Given the description of an element on the screen output the (x, y) to click on. 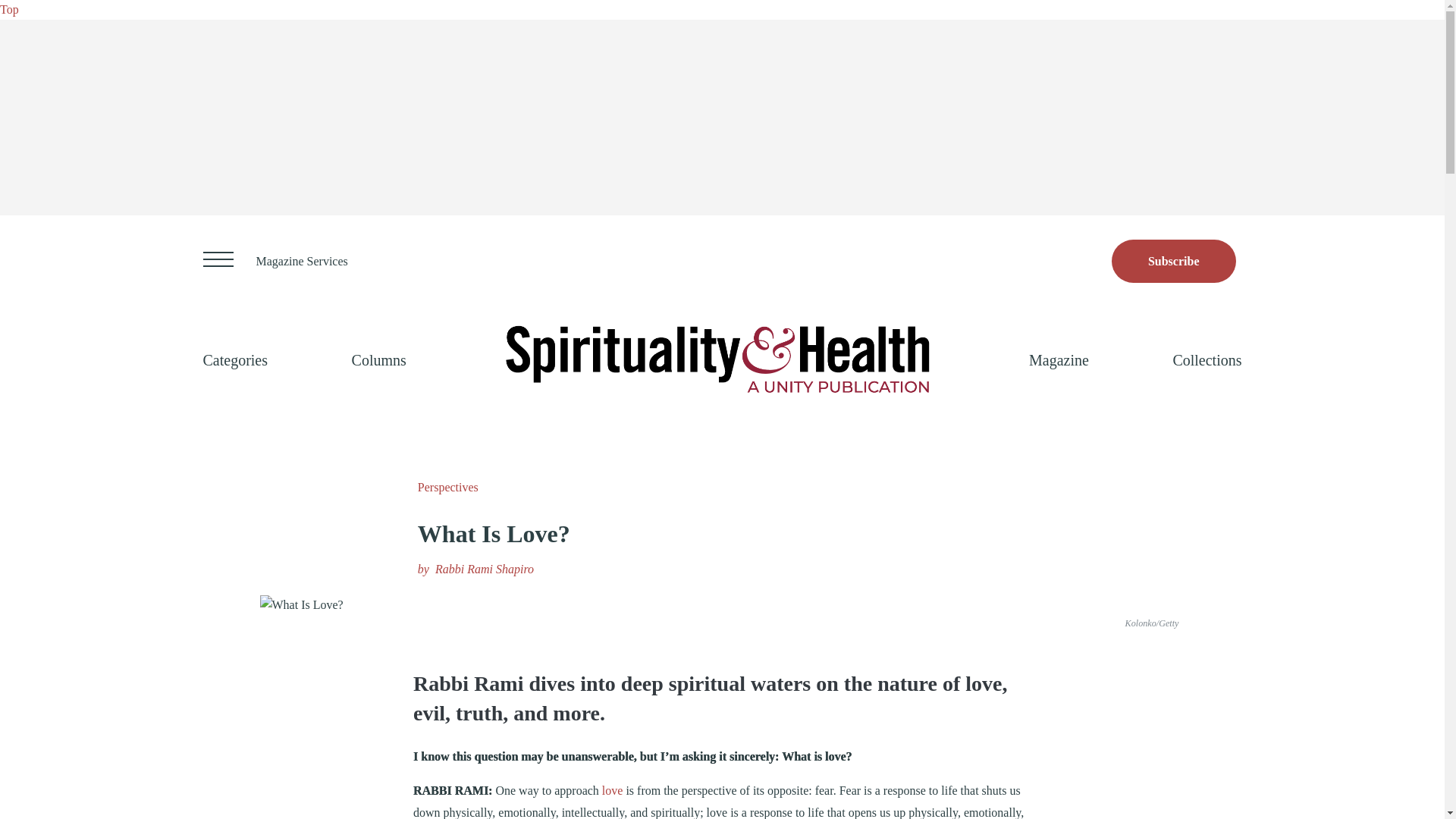
Opens to Store site (1174, 261)
Top (9, 9)
Columns (379, 359)
Subscribe (1174, 261)
Collections (1206, 359)
Categories (235, 359)
Magazine (1059, 359)
Magazine Services (301, 260)
